Given the description of an element on the screen output the (x, y) to click on. 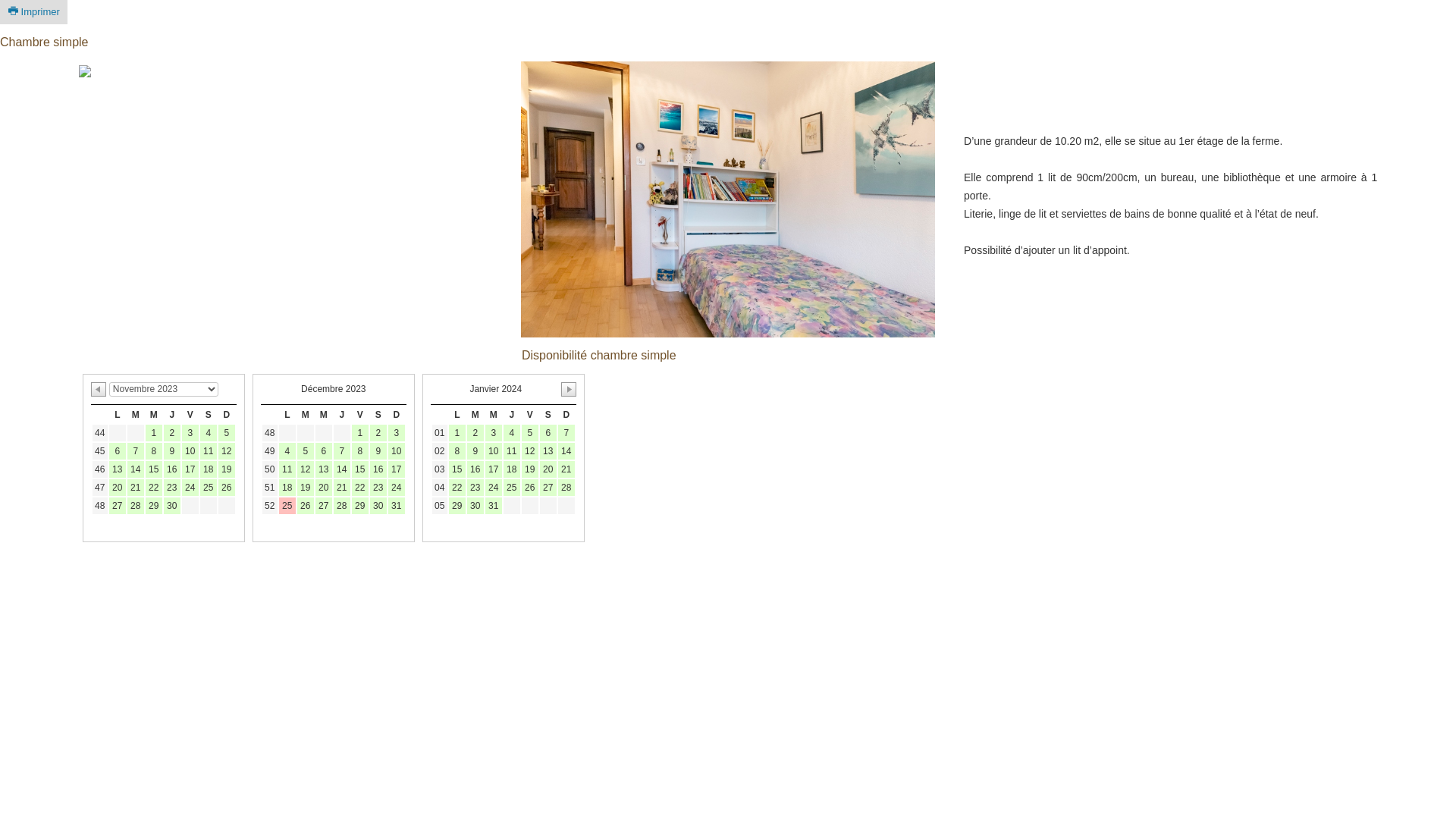
Imprimer Element type: text (33, 11)
